Given the description of an element on the screen output the (x, y) to click on. 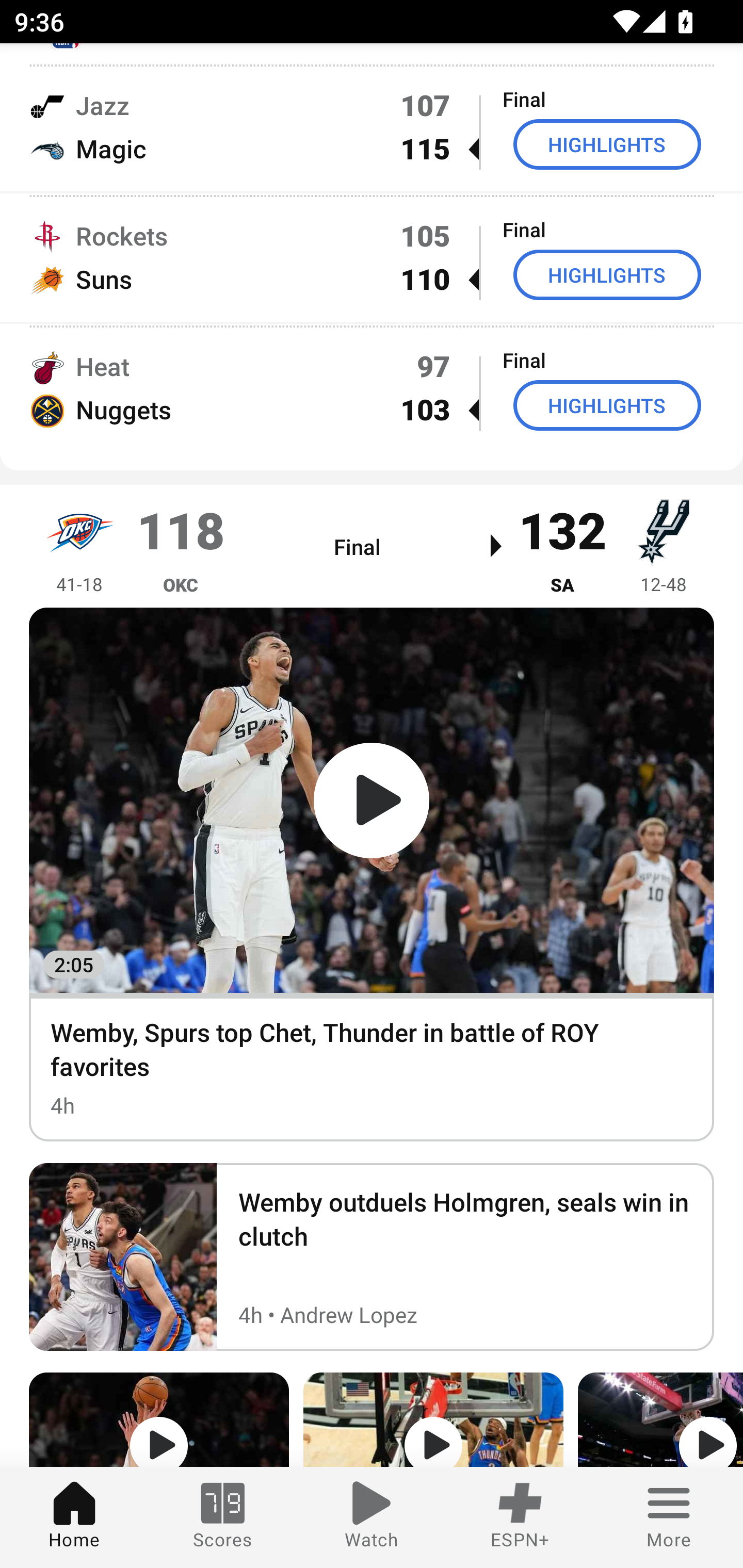
Jazz 107 Final Magic 115  HIGHLIGHTS (371, 126)
HIGHLIGHTS (607, 144)
Rockets 105 Final Suns 110  HIGHLIGHTS (371, 256)
HIGHLIGHTS (607, 274)
Heat 97 Final Nuggets 103  HIGHLIGHTS (371, 387)
HIGHLIGHTS (607, 405)
Scores (222, 1517)
Watch (371, 1517)
ESPN+ (519, 1517)
More (668, 1517)
